Given the description of an element on the screen output the (x, y) to click on. 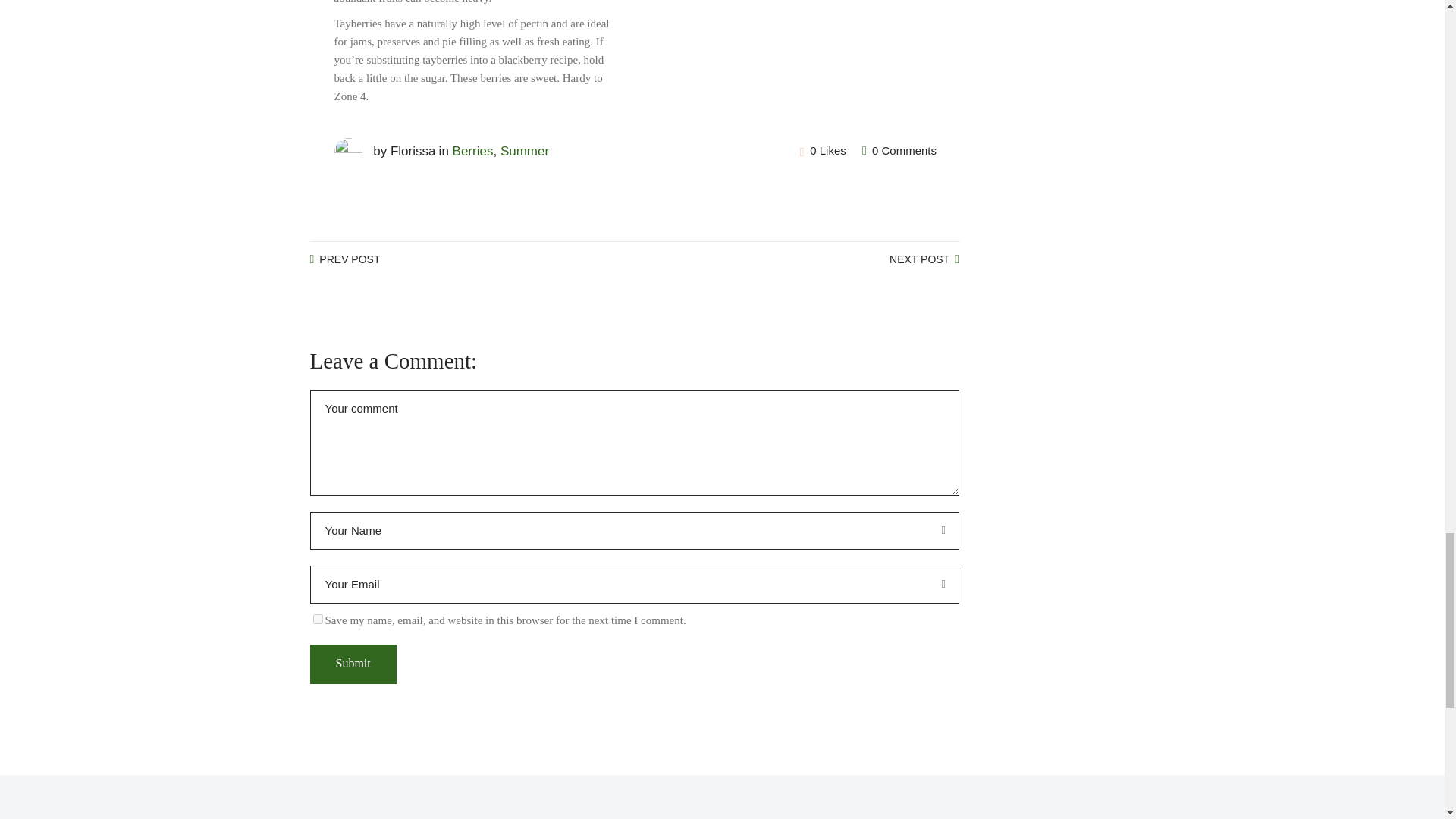
Berries (472, 151)
Summer (524, 151)
yes (317, 619)
Like this (822, 150)
Florissa (412, 151)
